Given the description of an element on the screen output the (x, y) to click on. 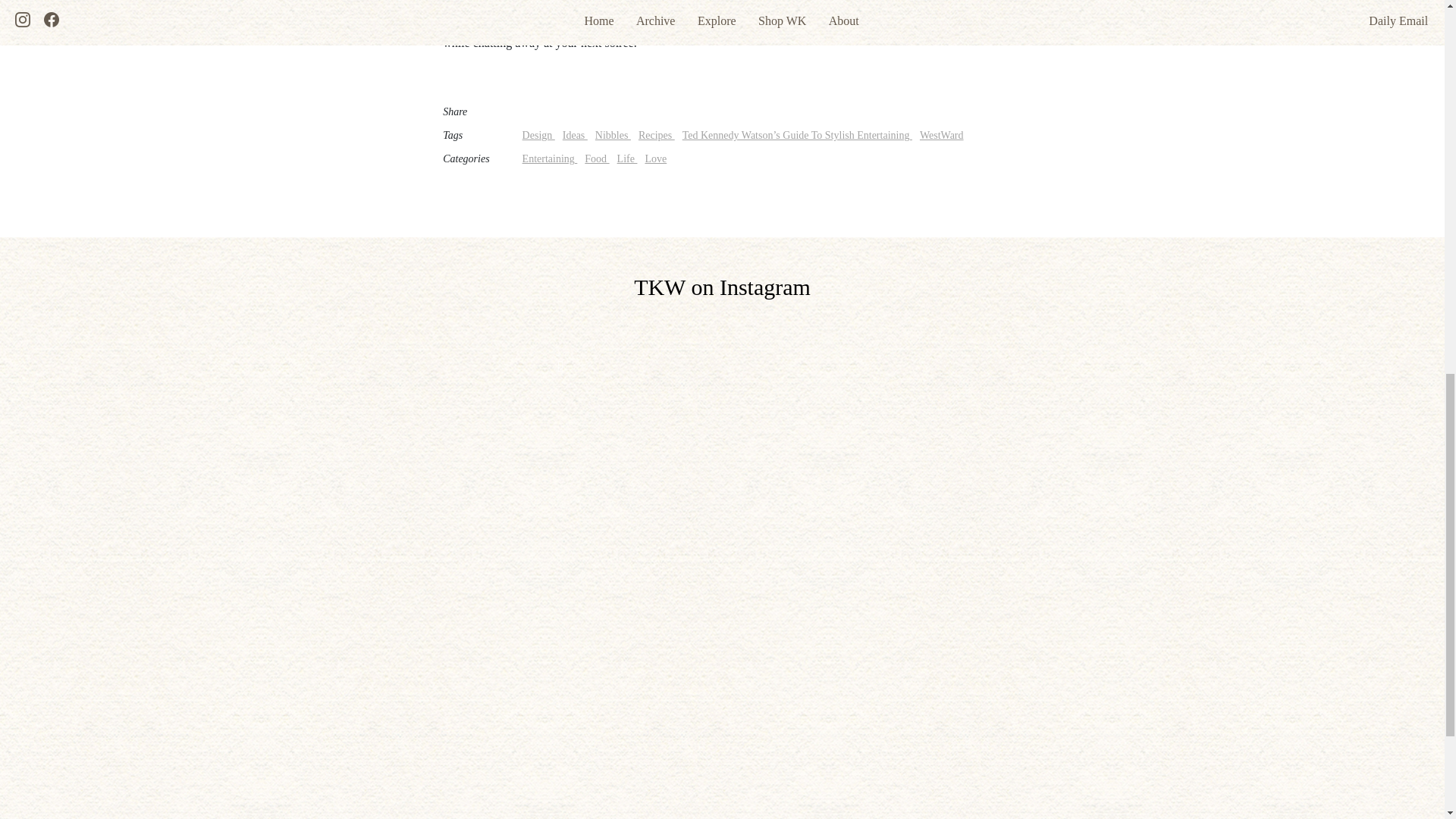
TKW on Instagram (722, 287)
Design (538, 134)
Ideas (575, 134)
Recipes (657, 134)
WestWard (941, 134)
Love (655, 158)
Nibbles (612, 134)
Entertaining (550, 158)
Life (627, 158)
Food (596, 158)
